Given the description of an element on the screen output the (x, y) to click on. 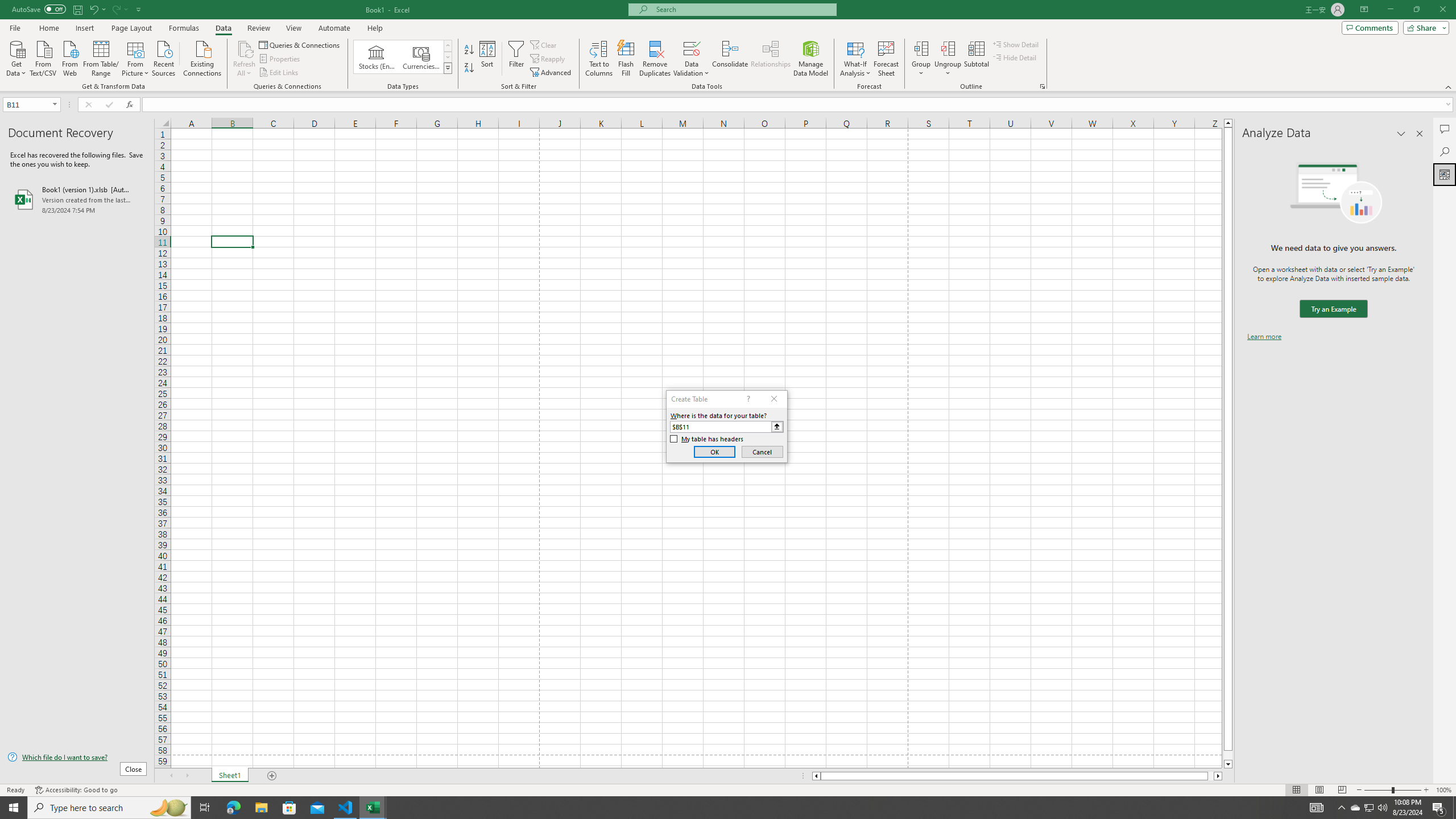
From Picture (135, 57)
Hide Detail (1014, 56)
Group and Outline Settings (1042, 85)
Manage Data Model (810, 58)
Recent Sources (163, 57)
